Given the description of an element on the screen output the (x, y) to click on. 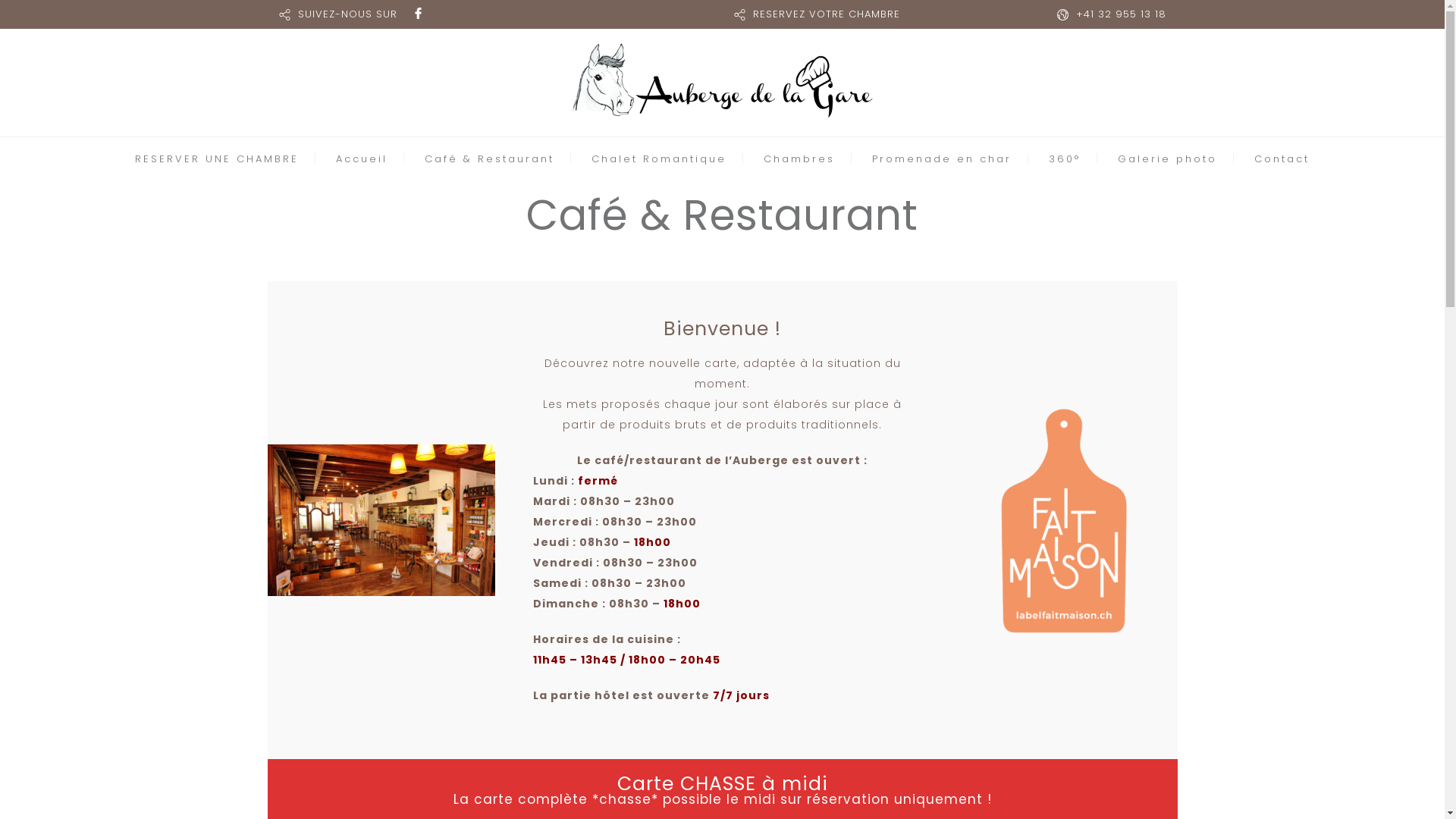
Contact Element type: text (1281, 158)
RESERVEZ VOTRE CHAMBRE Element type: text (825, 13)
cafe Element type: hover (380, 520)
Accueil Element type: text (361, 158)
+41 32 955 13 18 Element type: text (1120, 13)
Promenade en char Element type: text (941, 158)
Galerie photo Element type: text (1167, 158)
Chercher Element type: text (969, 409)
Chambres Element type: text (798, 158)
SUIVEZ-NOUS SUR Element type: text (346, 13)
Chalet Romantique Element type: text (658, 158)
labelfaitmaison_logo-01-1 Element type: hover (1062, 519)
RESERVER UNE CHAMBRE Element type: text (216, 158)
